Given the description of an element on the screen output the (x, y) to click on. 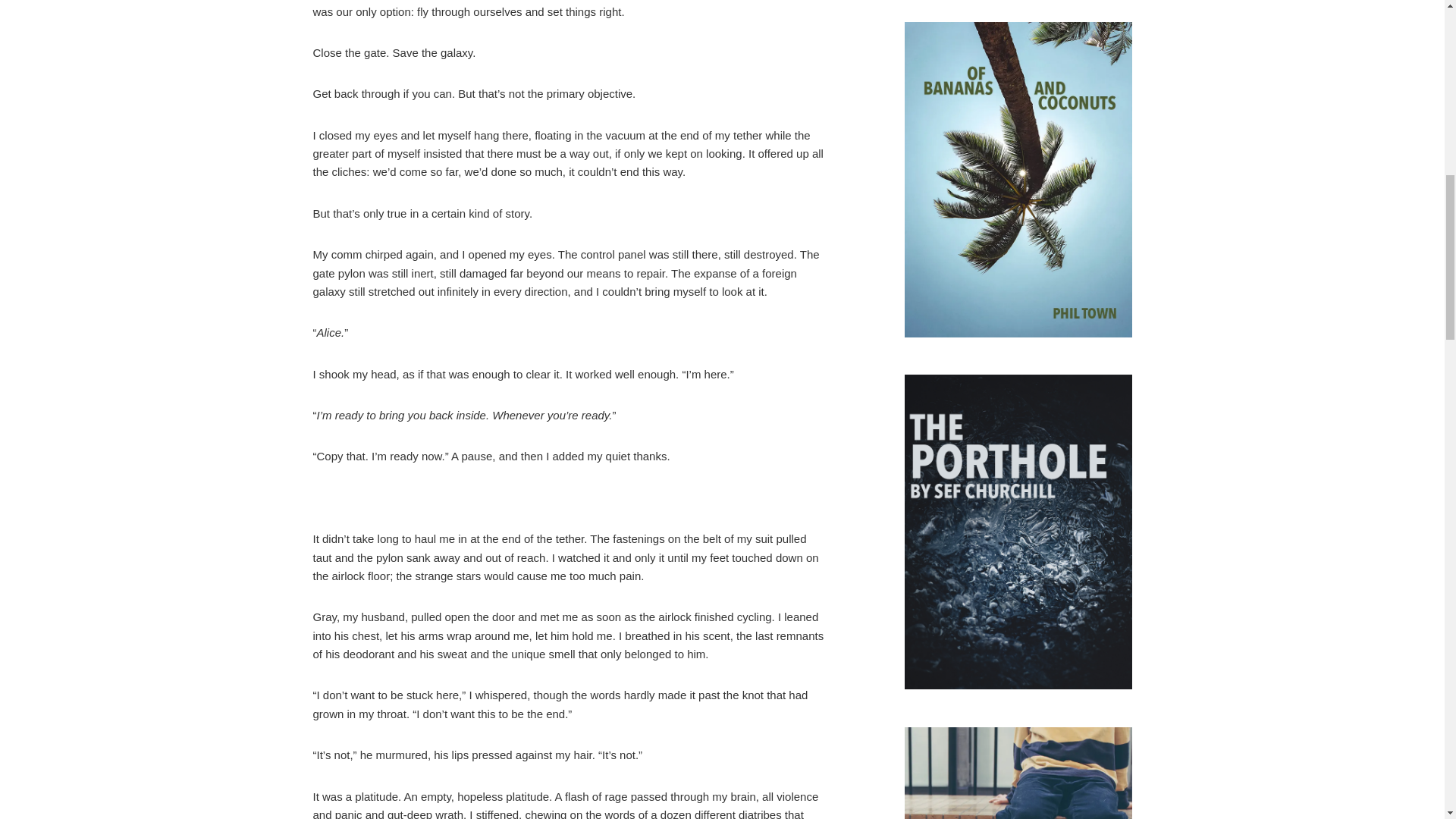
Little Montster (1017, 773)
The Porthole (1017, 534)
Of Bananas and Coconuts (1017, 182)
